Given the description of an element on the screen output the (x, y) to click on. 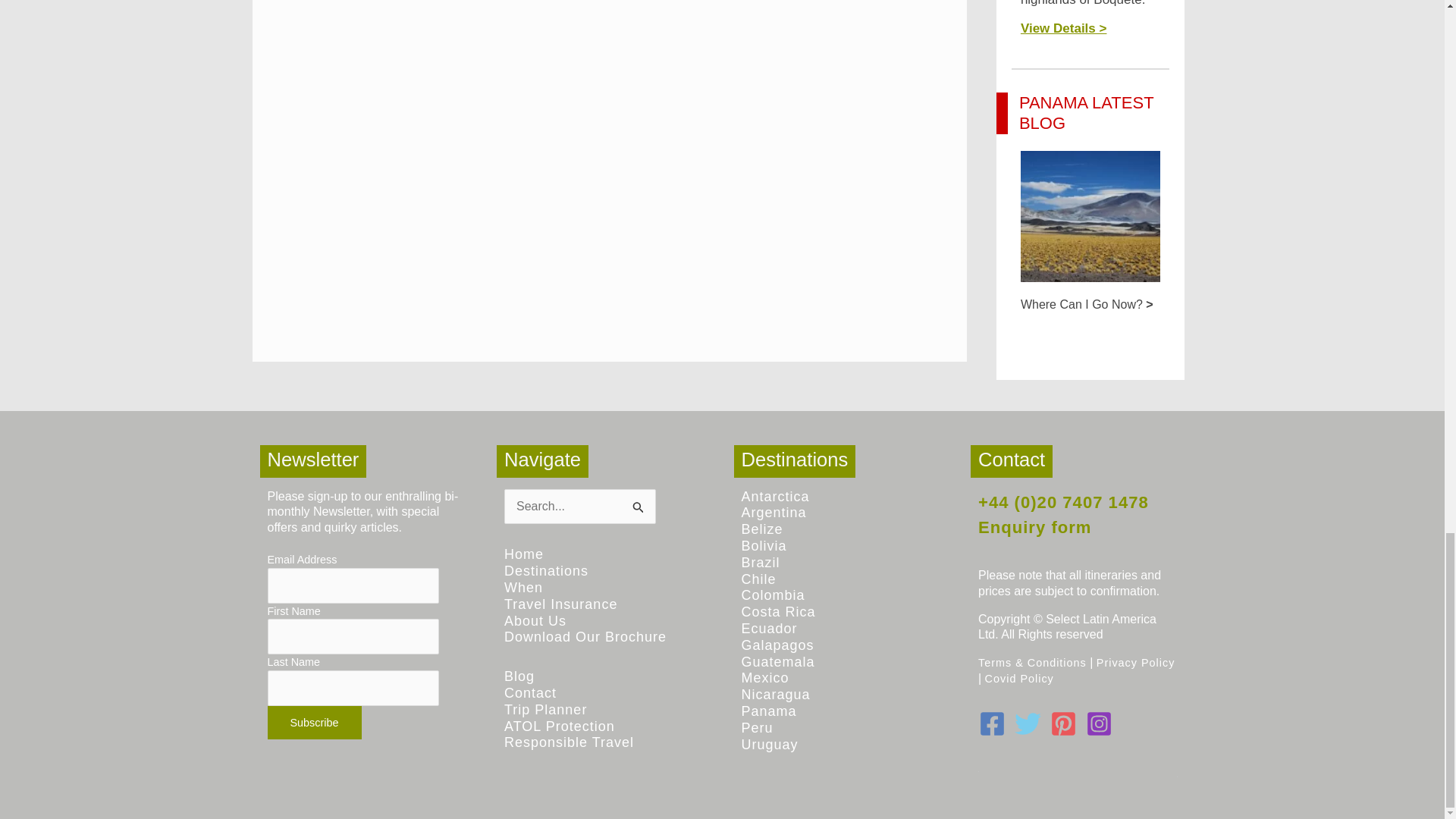
Subscribe (313, 722)
Search (638, 504)
Search (638, 504)
